Given the description of an element on the screen output the (x, y) to click on. 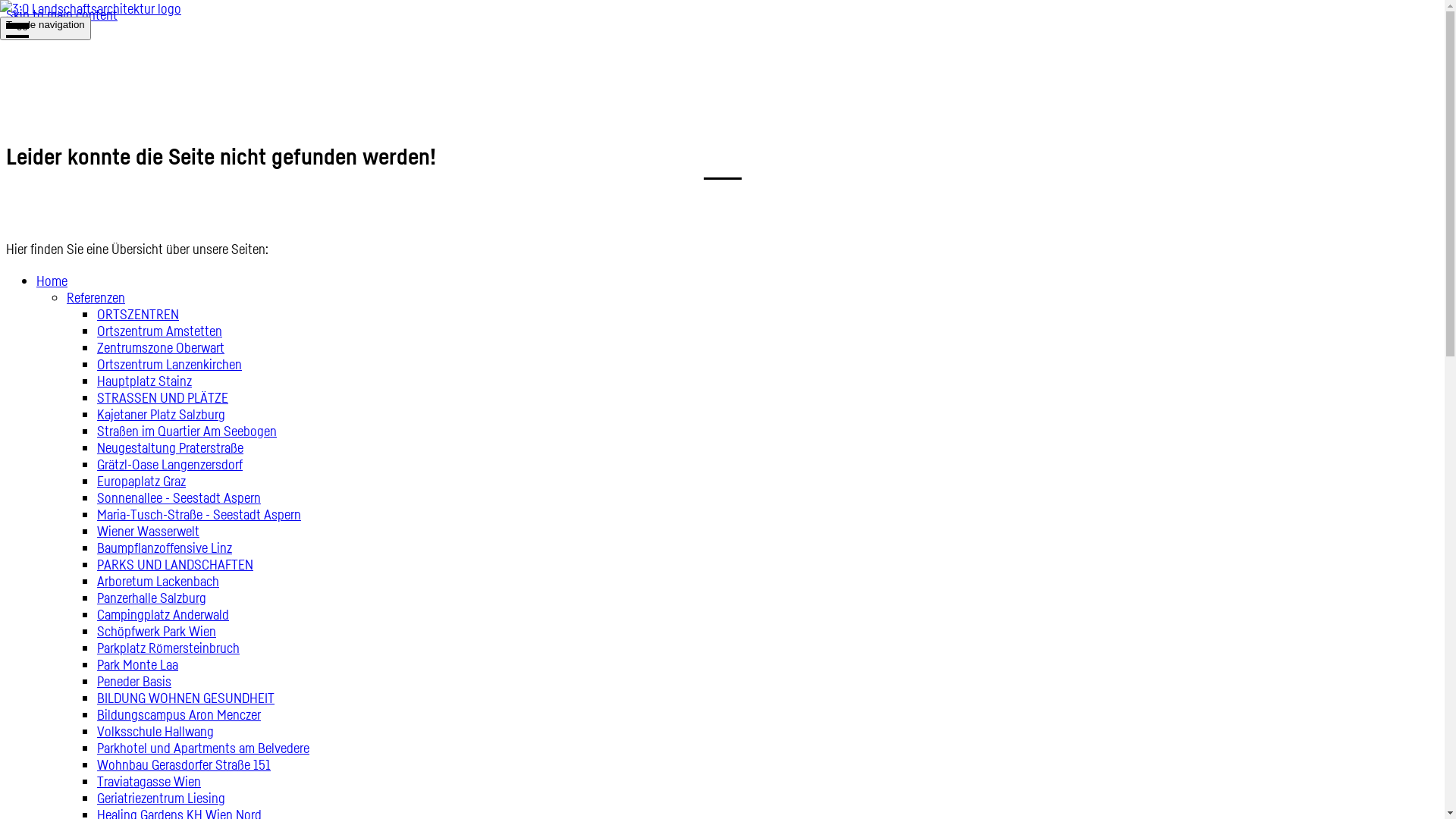
Skip to main content Element type: text (61, 14)
Kajetaner Platz Salzburg Element type: text (161, 413)
Hauptplatz Stainz Element type: text (144, 380)
Parkhotel und Apartments am Belvedere Element type: text (203, 747)
Home Element type: text (51, 280)
Baumpflanzoffensive Linz Element type: text (164, 547)
Park Monte Laa Element type: text (137, 663)
Peneder Basis Element type: text (134, 680)
Traviatagasse Wien Element type: text (148, 780)
Geriatriezentrum Liesing Element type: text (161, 797)
Europaplatz Graz Element type: text (141, 480)
Bildungscampus Aron Menczer Element type: text (178, 714)
ORTSZENTREN Element type: text (137, 313)
BILDUNG WOHNEN GESUNDHEIT Element type: text (185, 697)
Volksschule Hallwang Element type: text (155, 730)
Campingplatz Anderwald Element type: text (163, 613)
Ortszentrum Amstetten Element type: text (159, 330)
Panzerhalle Salzburg Element type: text (151, 597)
Zentrumszone Oberwart Element type: text (160, 346)
Ortszentrum Lanzenkirchen Element type: text (169, 363)
Referenzen Element type: text (95, 296)
Sonnenallee - Seestadt Aspern Element type: text (178, 497)
Wiener Wasserwelt Element type: text (148, 530)
Toggle navigation Element type: text (45, 28)
Arboretum Lackenbach Element type: text (158, 580)
PARKS UND LANDSCHAFTEN Element type: text (175, 563)
